Given the description of an element on the screen output the (x, y) to click on. 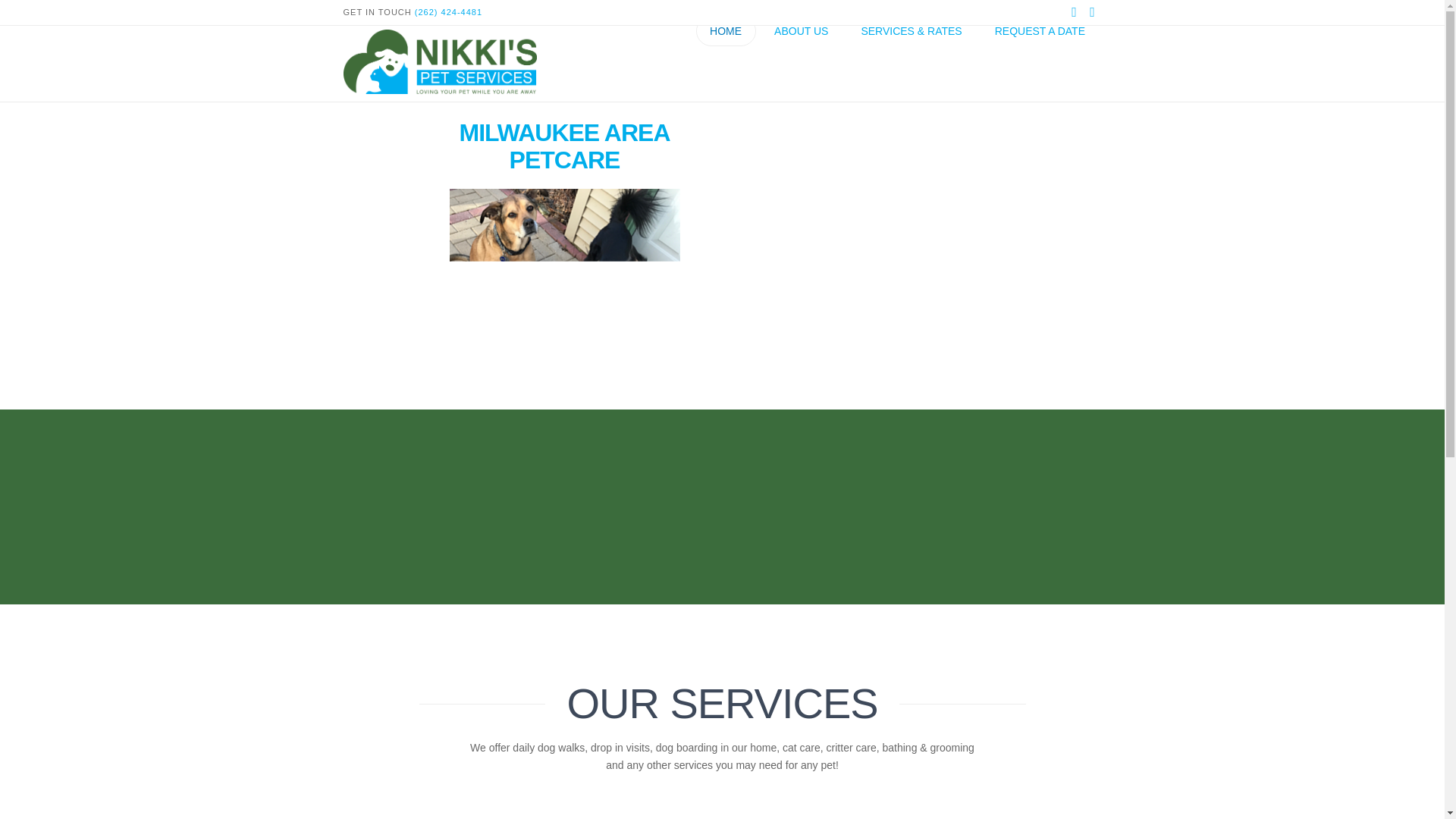
HOME (726, 63)
Facebook (1073, 12)
Instagram (1091, 12)
REQUEST A DATE (1039, 63)
ABOUT US (801, 63)
